Given the description of an element on the screen output the (x, y) to click on. 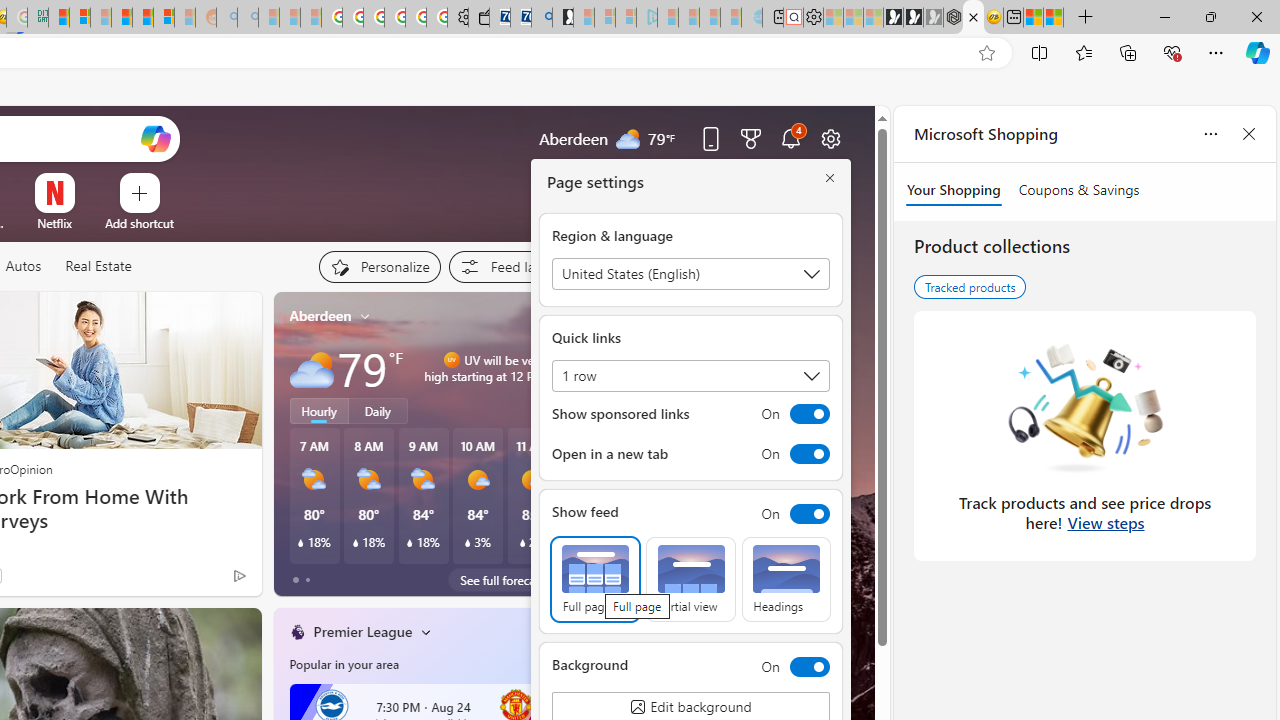
Nordace - Nordace Siena Is Not An Ordinary Backpack (952, 17)
Class: select-setting-fluent-select  (690, 375)
Page settings (831, 138)
Premier League (363, 631)
Play Free Online Games | Games from Microsoft Start (893, 17)
